Given the description of an element on the screen output the (x, y) to click on. 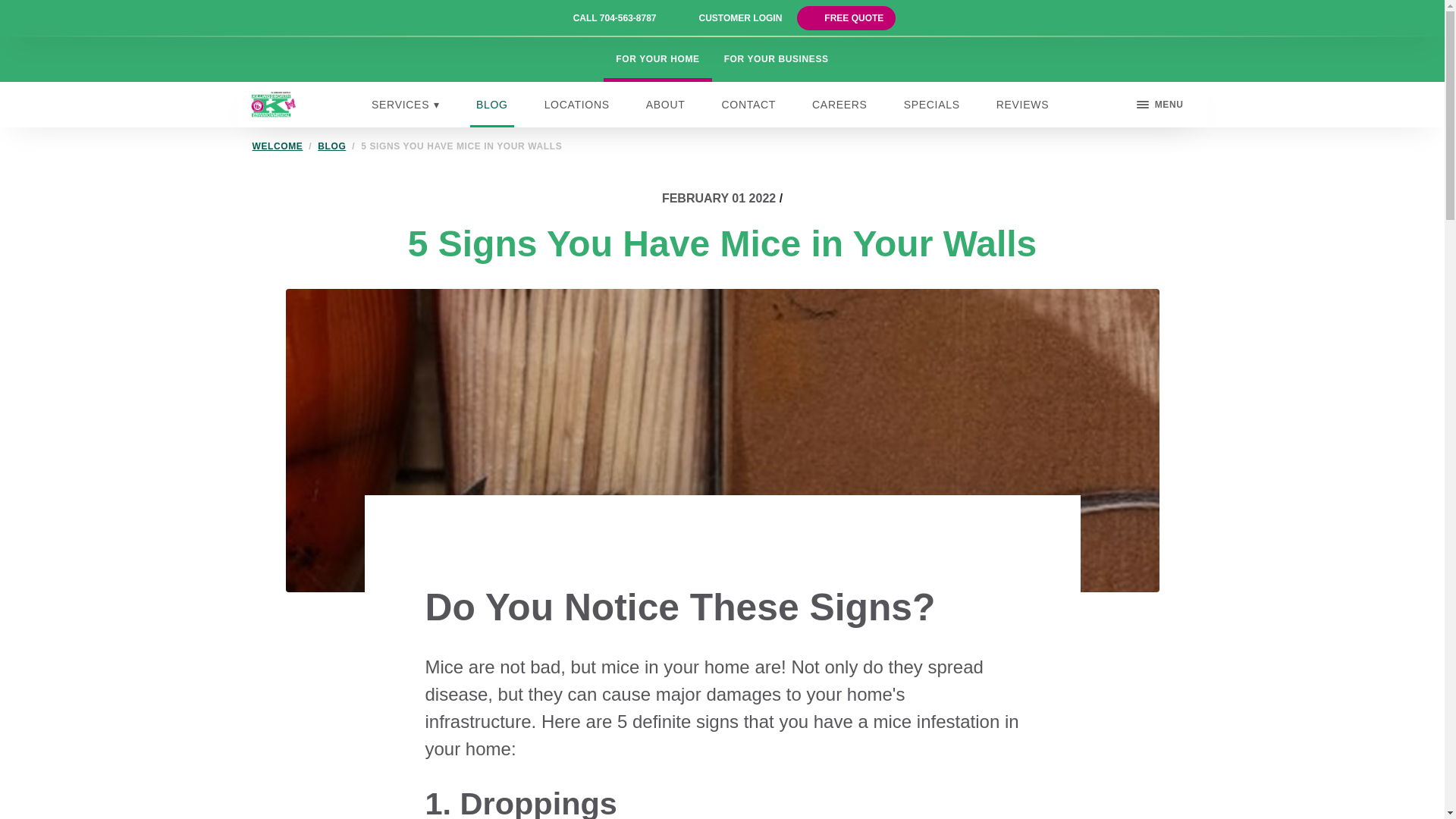
Welcome (276, 146)
MENU (1160, 104)
SERVICES (405, 104)
CAREERS (839, 104)
ABOUT (665, 104)
CUSTOMER LOGIN (740, 17)
CONTACT (749, 104)
FOR YOUR HOME (657, 58)
FREE QUOTE (853, 17)
FOR YOUR BUSINESS (776, 58)
LOCATIONS (576, 104)
SPECIALS (932, 104)
REVIEWS (1022, 104)
CALL 704-563-8787 (614, 17)
